Given the description of an element on the screen output the (x, y) to click on. 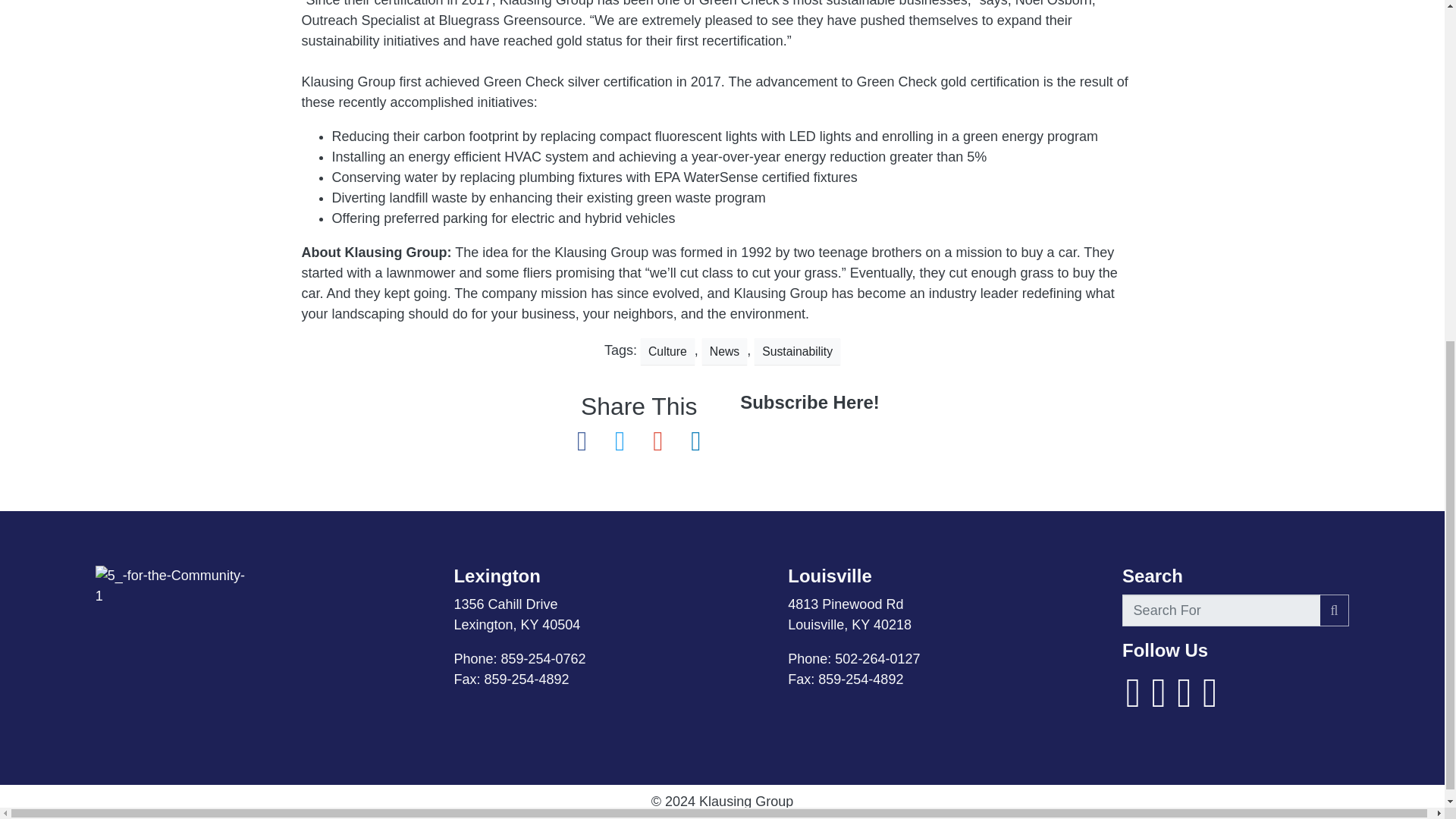
Sustainability (797, 351)
On LinkedIn (1184, 702)
On Facebook (1133, 702)
Culture (667, 351)
News (723, 351)
On Twitter (1209, 702)
Search (1334, 610)
On YouTube (1159, 702)
